Given the description of an element on the screen output the (x, y) to click on. 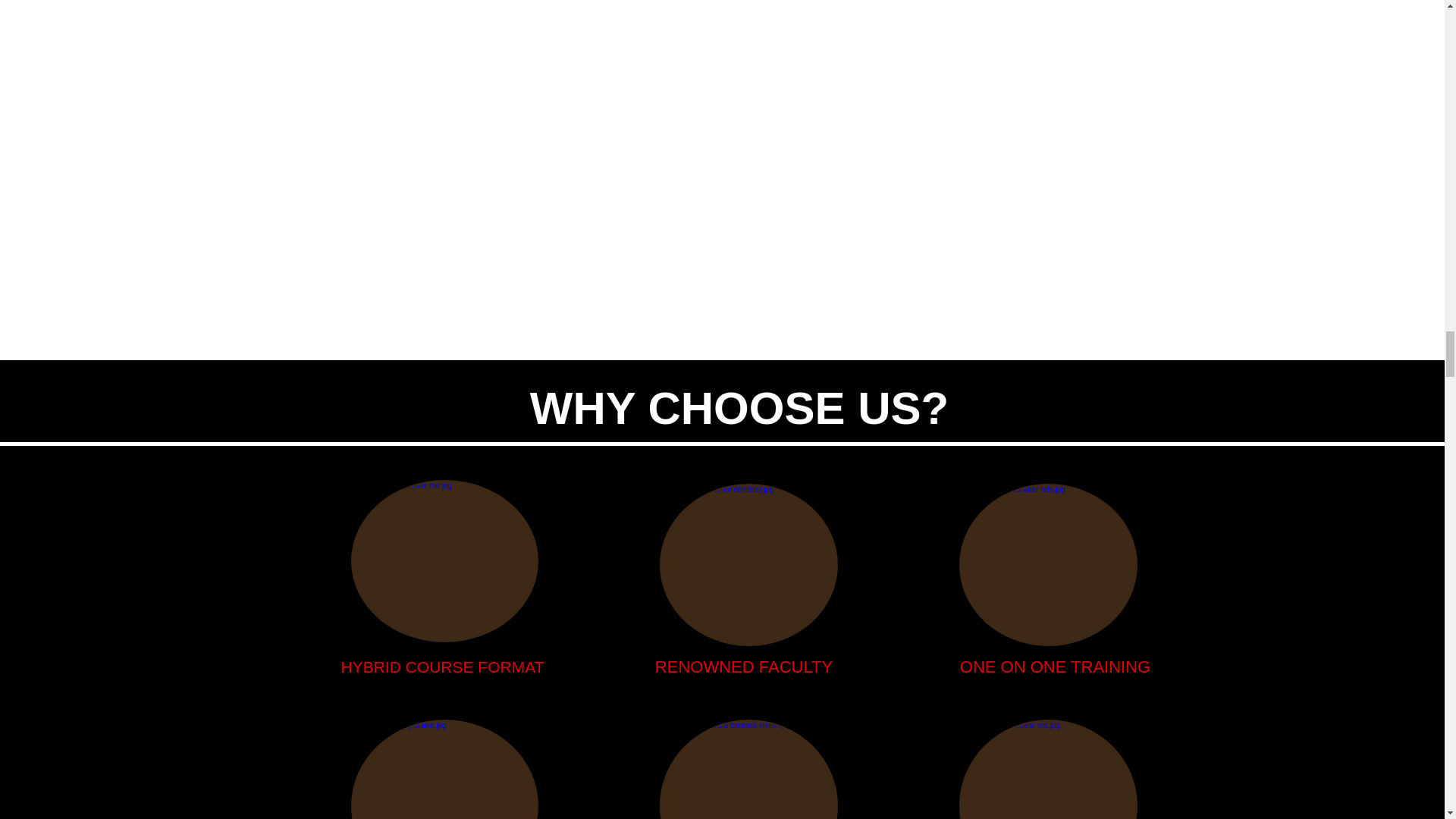
dental implants online course (443, 560)
dental classes online (748, 565)
live dental ce online (443, 769)
RENOWNED FACULTY (743, 666)
ONE ON ONE TRAINING (1054, 666)
online dental programs (1047, 565)
WHY CHOOSE US? (739, 409)
HYBRID COURSE FORMAT (442, 666)
